Given the description of an element on the screen output the (x, y) to click on. 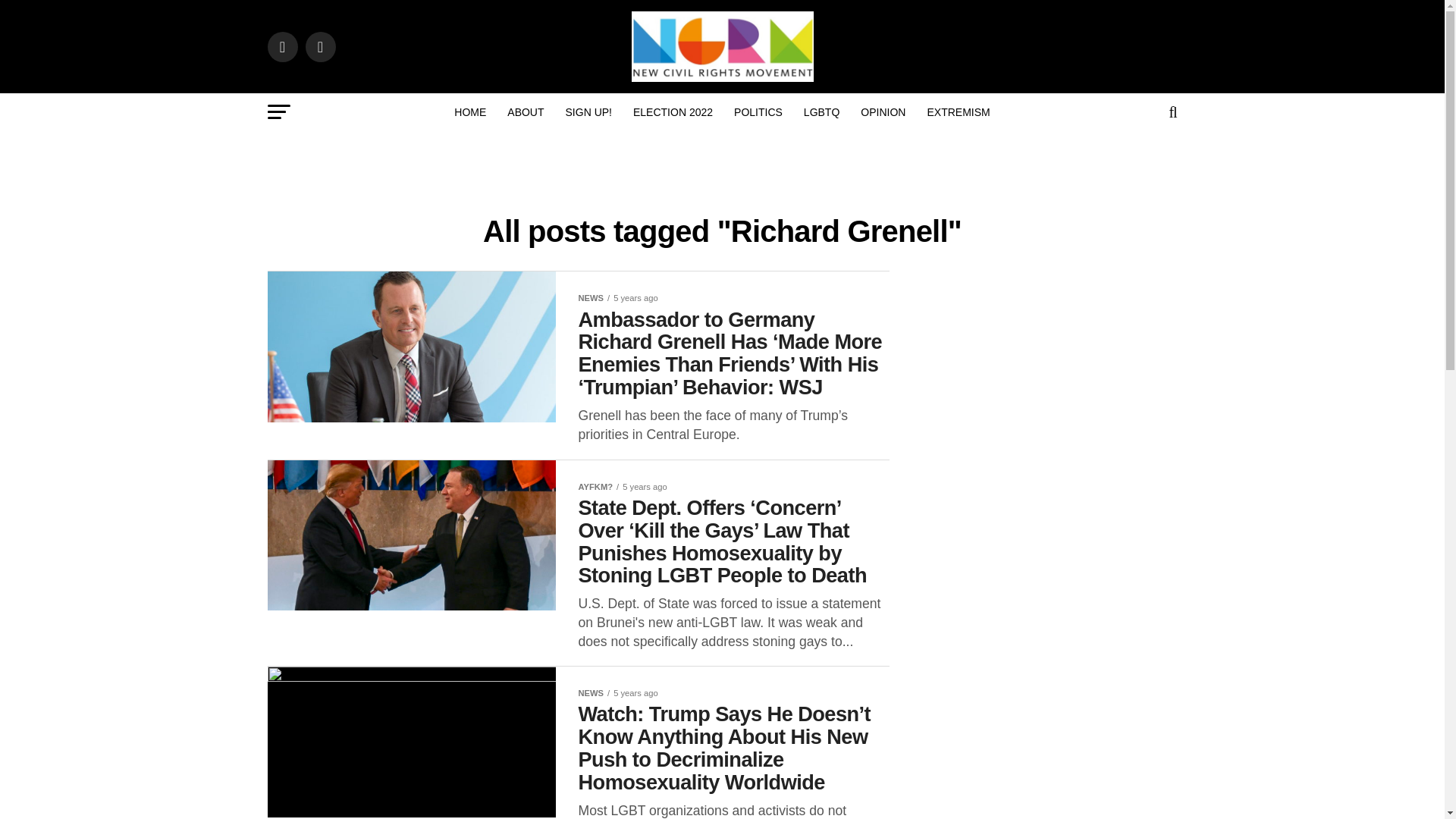
LGBTQ (821, 112)
OPINION (882, 112)
ELECTION 2022 (673, 112)
ABOUT (525, 112)
HOME (470, 112)
SIGN UP! (588, 112)
EXTREMISM (957, 112)
POLITICS (758, 112)
